Given the description of an element on the screen output the (x, y) to click on. 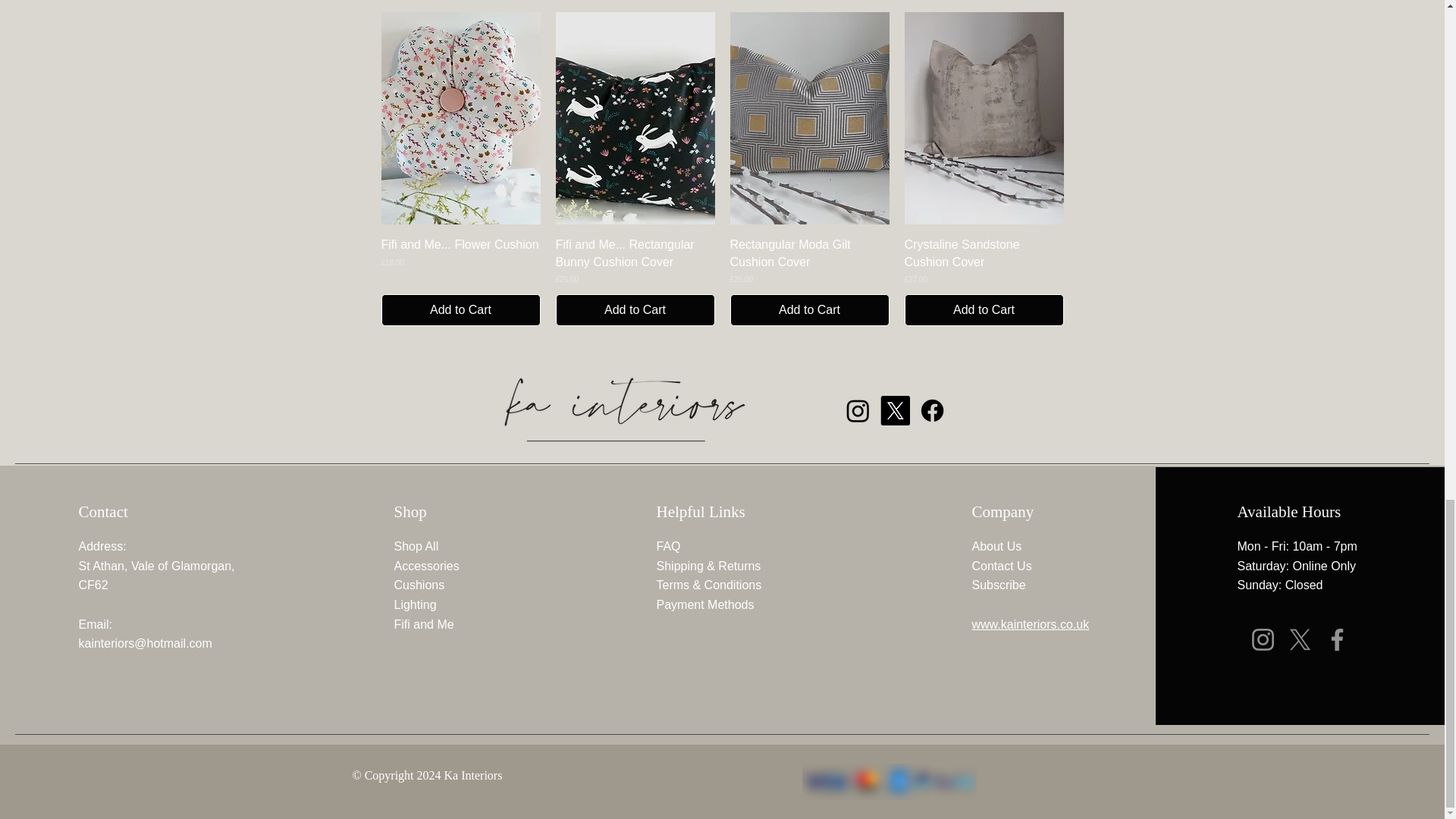
Add to Cart (460, 309)
ka interiors logo no background (616, 410)
Add to Cart (983, 309)
Add to Cart (808, 309)
Add to Cart (634, 309)
